Given the description of an element on the screen output the (x, y) to click on. 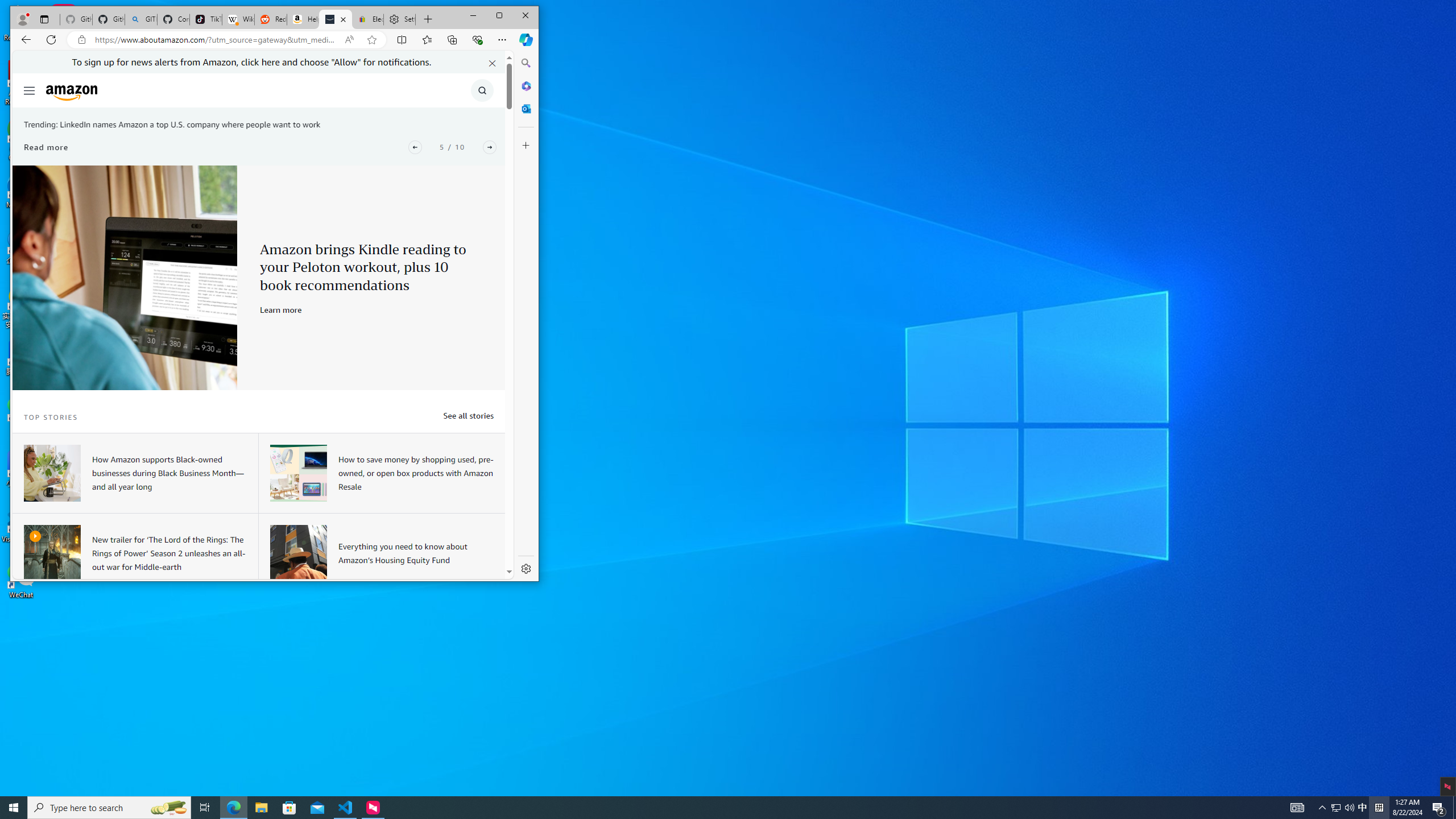
Action Center, 2 new notifications (1439, 807)
Notification Chevron (1322, 807)
Microsoft Store (289, 807)
Maximize (499, 15)
